Given the description of an element on the screen output the (x, y) to click on. 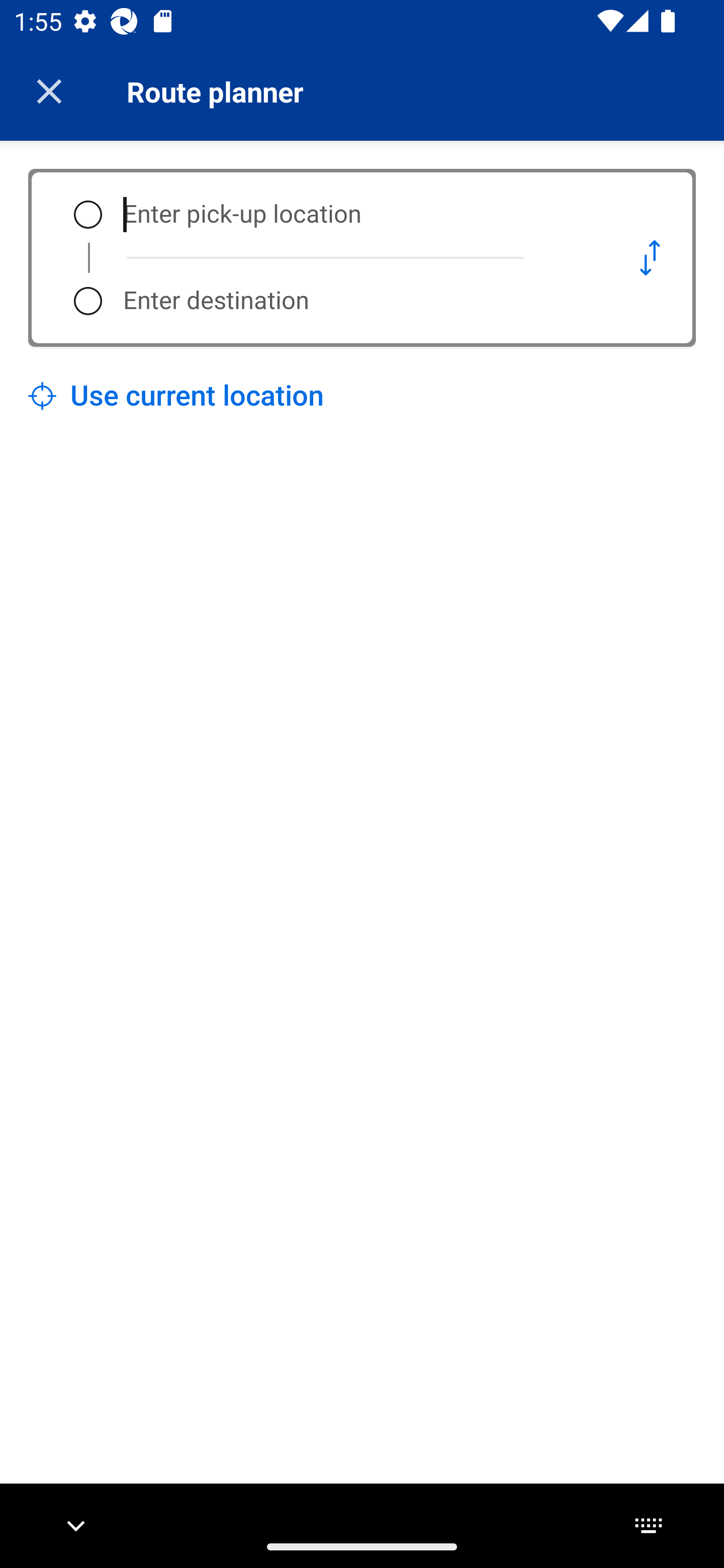
Close (49, 91)
Enter pick-up location (355, 214)
Swap pick-up location and destination (650, 257)
Enter destination (355, 300)
Use current location (176, 395)
